Given the description of an element on the screen output the (x, y) to click on. 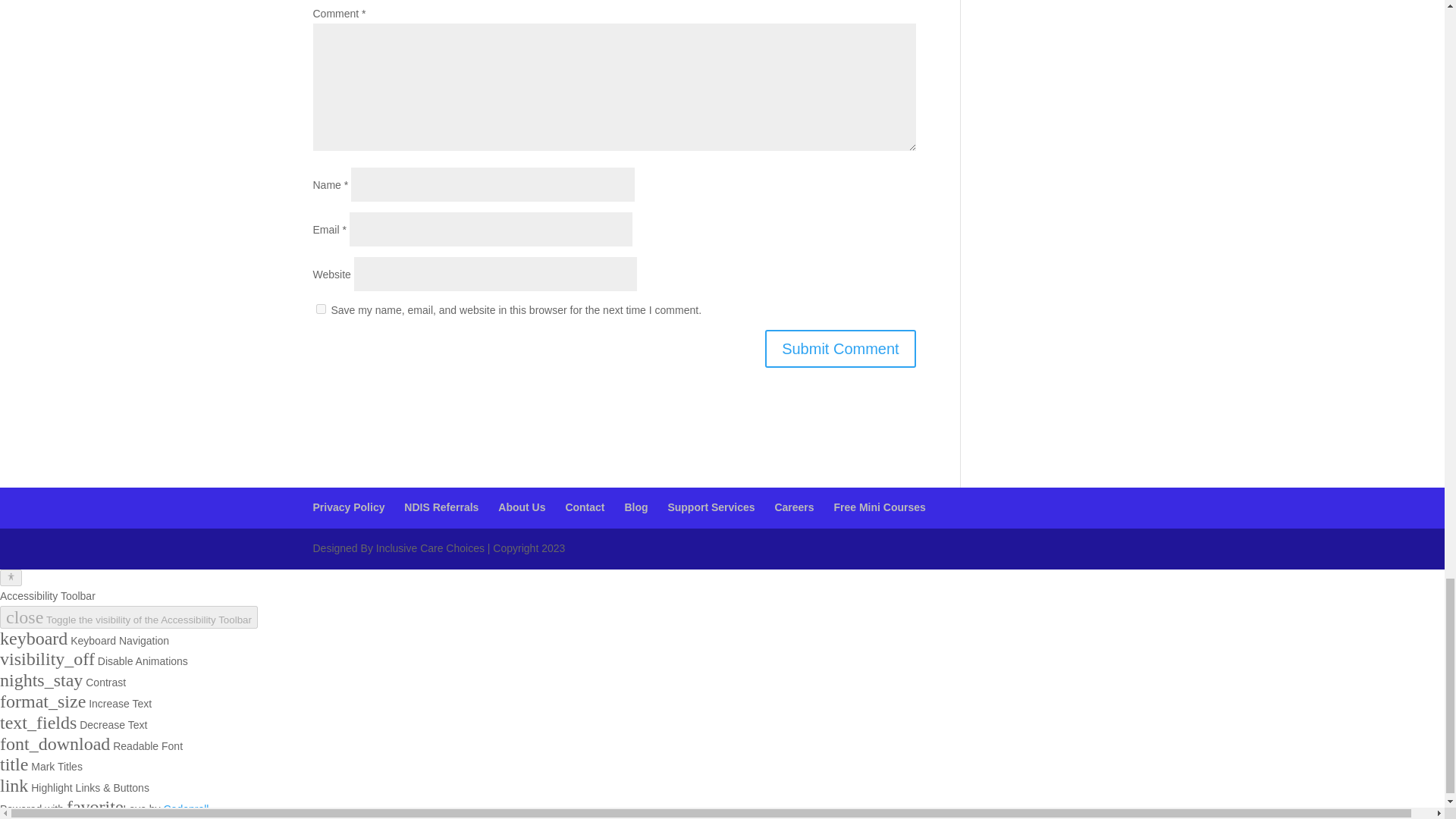
Codenroll (186, 808)
Free Mini Courses (880, 507)
Support Services (710, 507)
About Us (520, 507)
Submit Comment (840, 348)
NDIS Referrals (441, 507)
Privacy Policy (348, 507)
Blog (635, 507)
Submit Comment (840, 348)
Contact (584, 507)
